Given the description of an element on the screen output the (x, y) to click on. 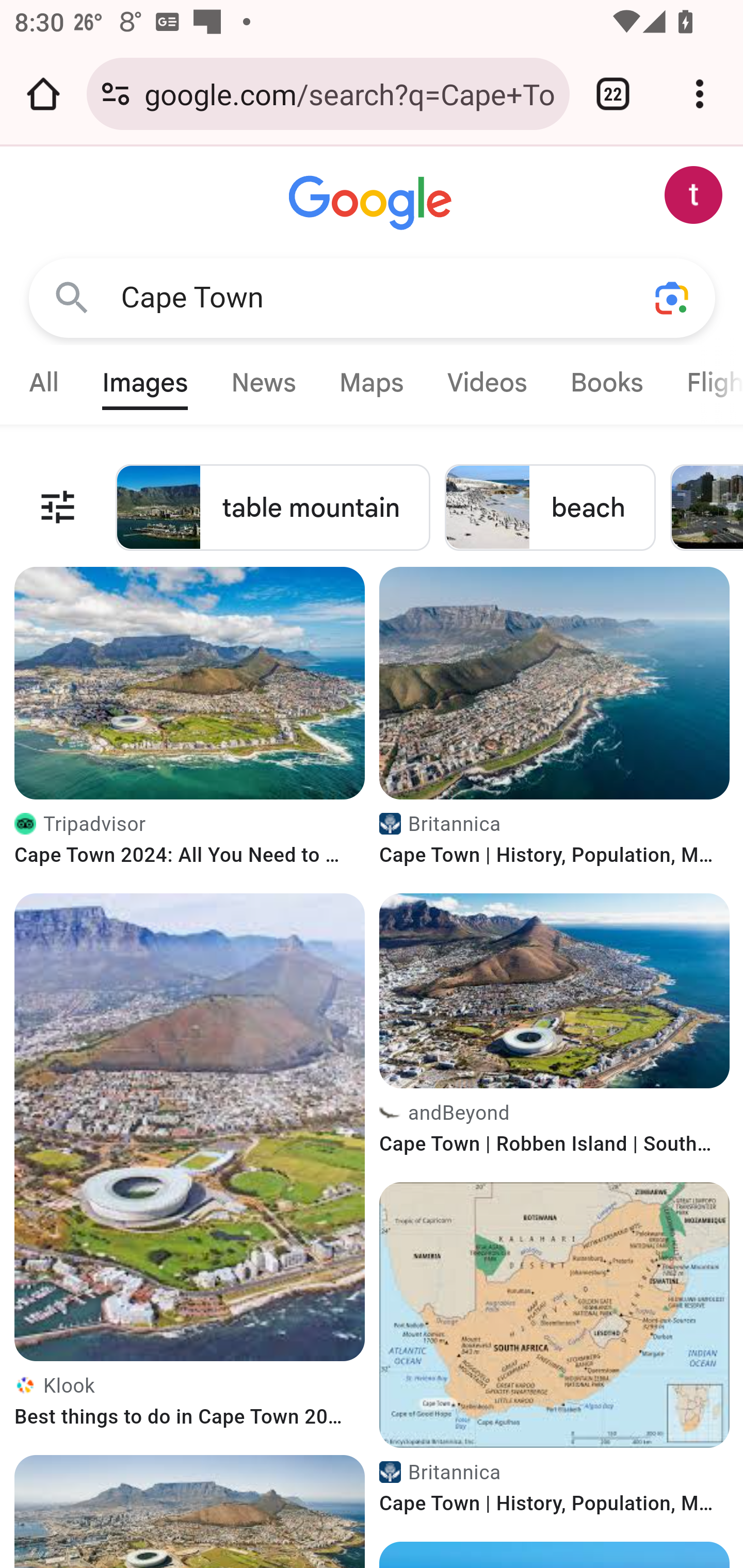
Open the home page (43, 93)
Connection is secure (115, 93)
Switch or close tabs (612, 93)
Customize and control Google Chrome (699, 93)
Go to Google Home (371, 204)
Search using your camera or photos Camera search (672, 297)
Google Search (61, 296)
Cape Town (360, 298)
All (43, 382)
News (264, 382)
Maps (370, 382)
Videos (486, 382)
Books (606, 382)
Tools menu (58, 506)
table mountain (273, 506)
beach (550, 506)
city (706, 506)
TripadvisorCape Town 2024: All You Need to Go ... (190, 844)
BritannicaCape Town | History, Population, Map ... (554, 844)
KlookBest things to do in Cape Town 2024 ... (190, 1406)
BritannicaCape Town | History, Population, Map ... (554, 1492)
